Given the description of an element on the screen output the (x, y) to click on. 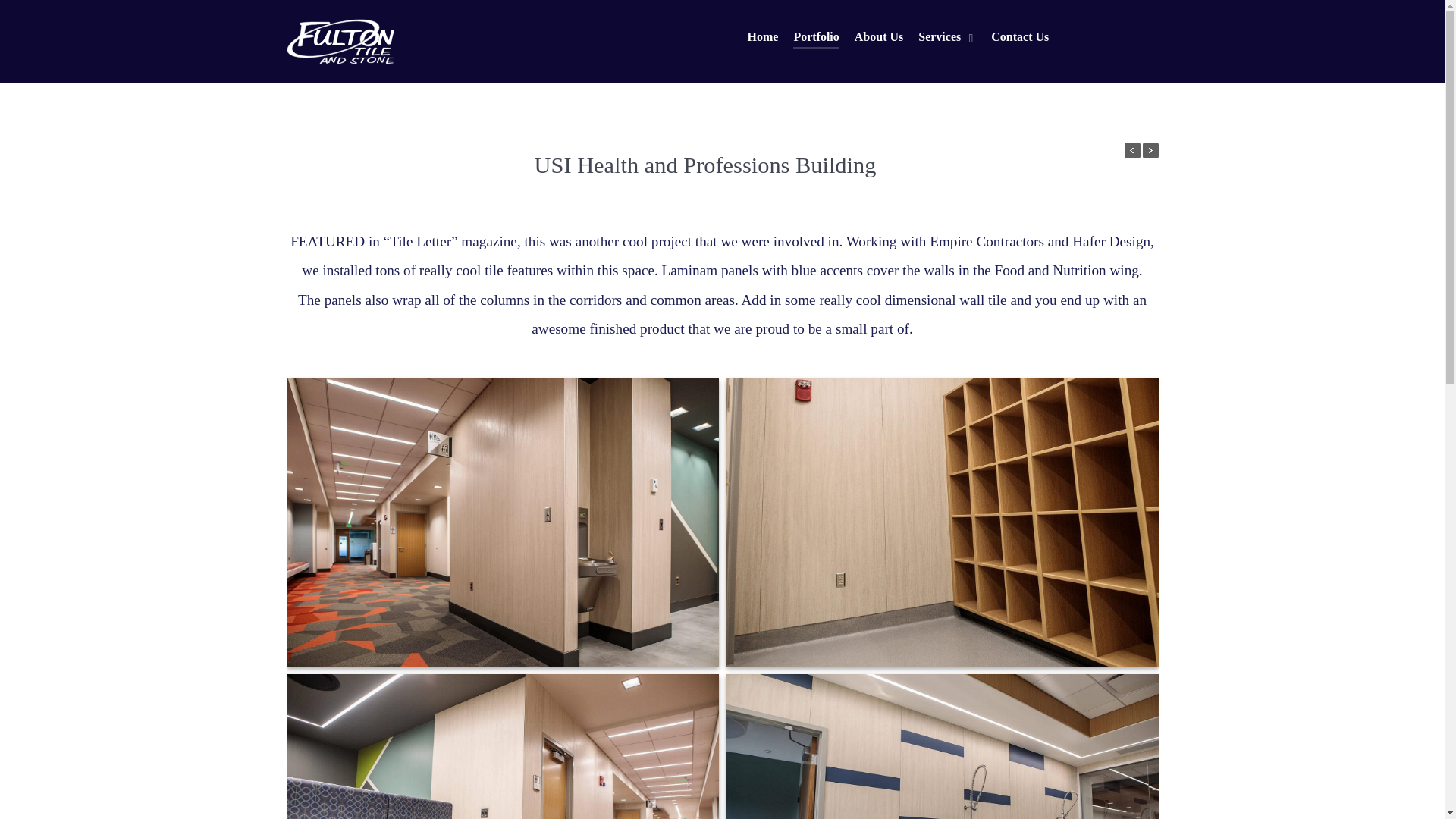
Home (763, 38)
Portfolio (815, 38)
Fultonlogowhite (340, 40)
Contact Us (1019, 38)
Portfolio (815, 38)
Home (763, 38)
About Us (878, 38)
About Us (878, 38)
Fultonlogowhite (340, 41)
